Given the description of an element on the screen output the (x, y) to click on. 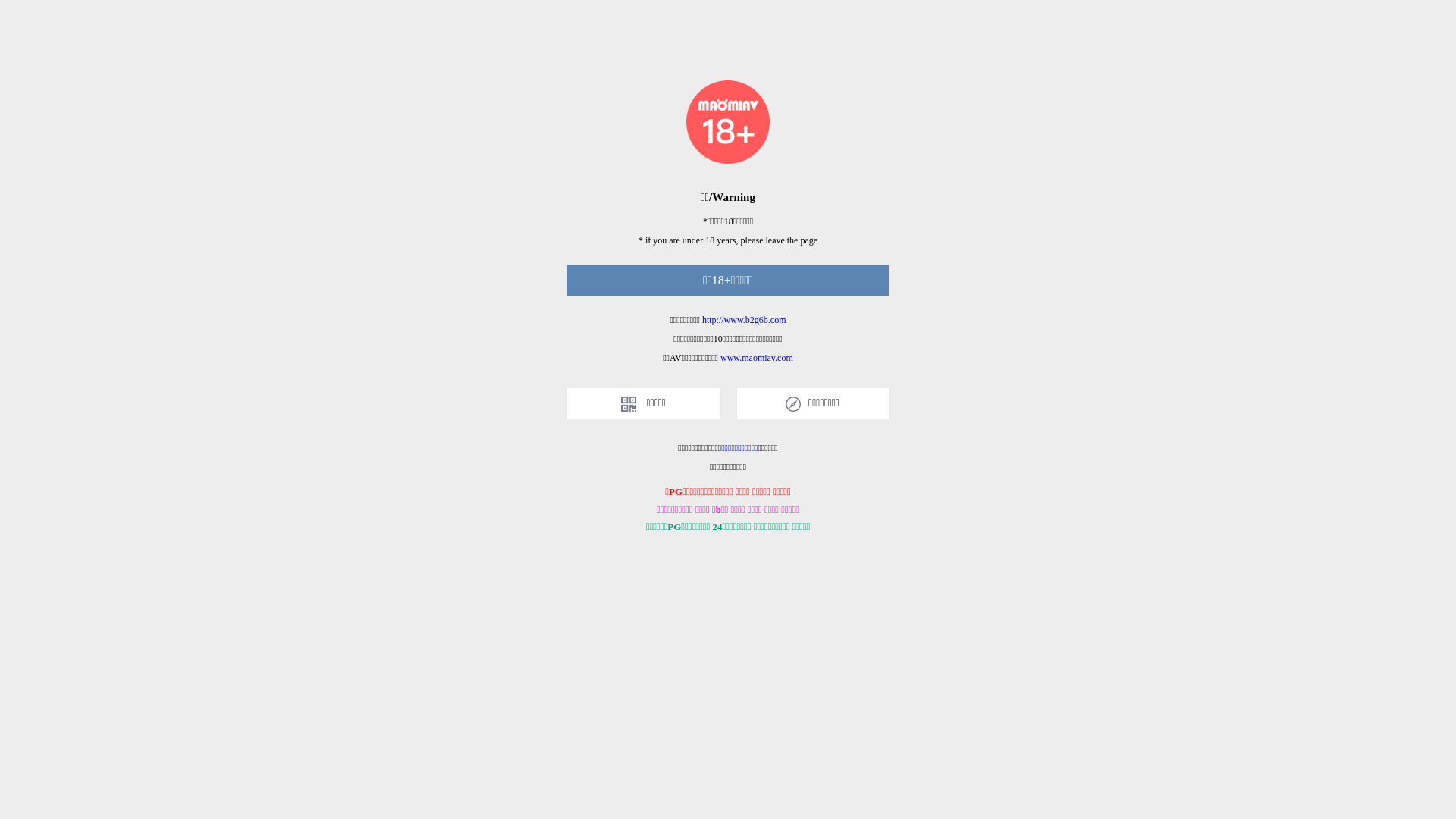
http://www.b2g6b.com Element type: text (744, 319)
www.maomiav.com Element type: text (756, 357)
